Given the description of an element on the screen output the (x, y) to click on. 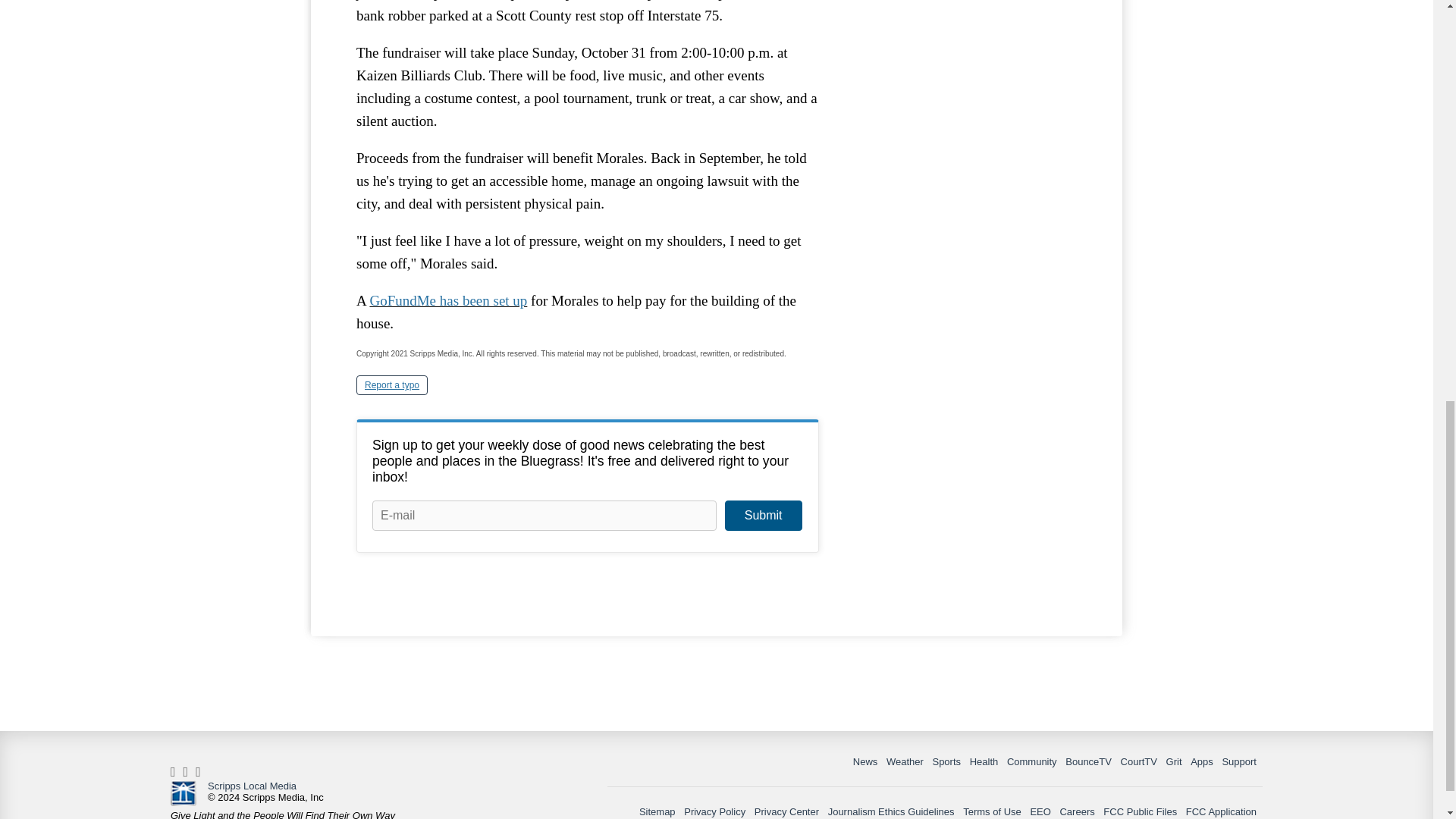
Submit (763, 515)
